Given the description of an element on the screen output the (x, y) to click on. 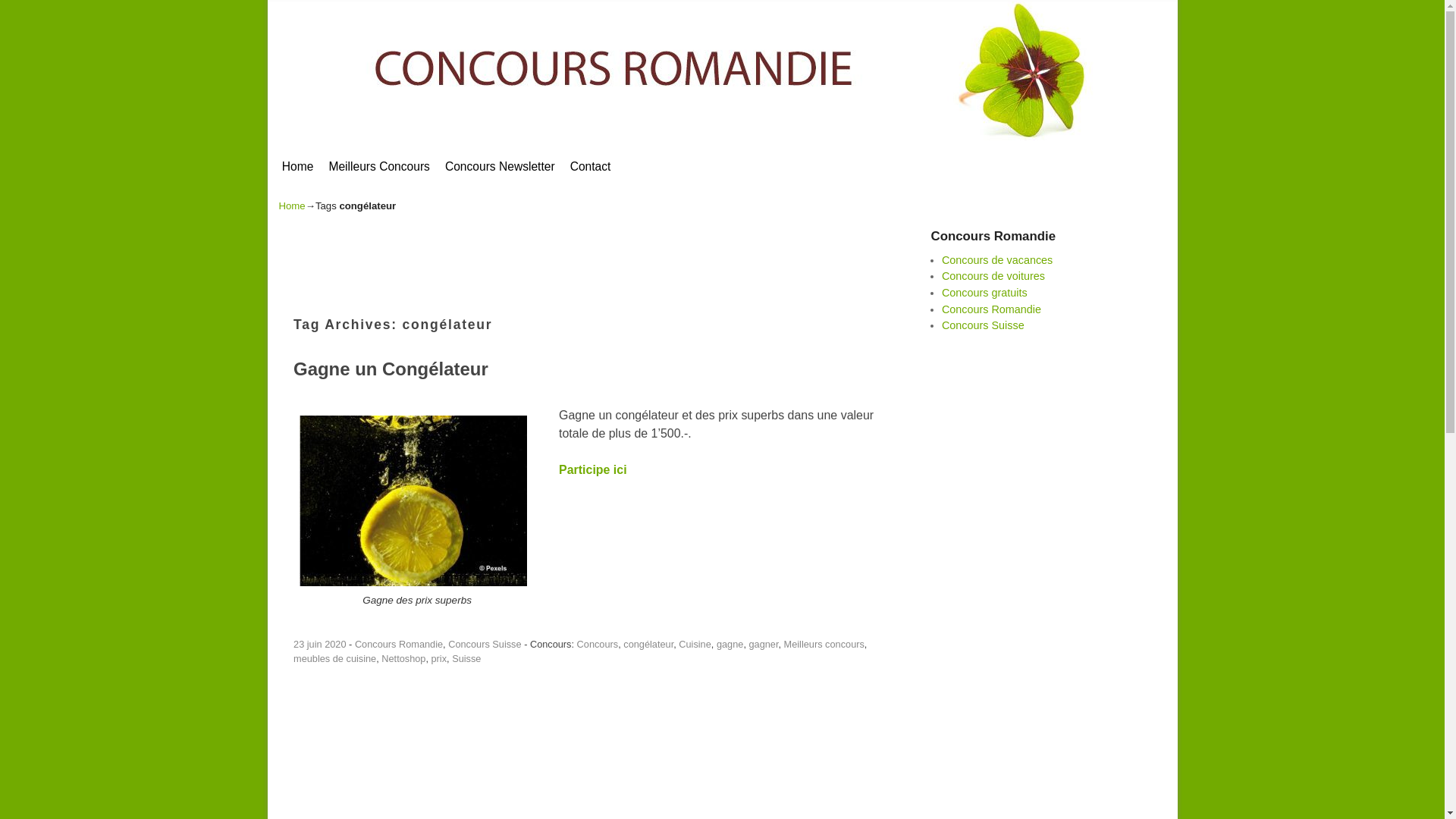
gagne Element type: text (729, 643)
Contact Element type: text (590, 166)
Concours Romandie Element type: text (991, 309)
Concours Romandie Element type: text (398, 643)
Concours Element type: text (597, 643)
Skip to primary content Element type: text (313, 146)
Concours Newsletter Element type: text (499, 166)
gagner Element type: text (763, 643)
prix Element type: text (439, 658)
23 juin 2020 Element type: text (319, 643)
Concours de voitures Element type: text (992, 275)
Nettoshop Element type: text (403, 658)
Home Element type: text (297, 166)
Concours gratuits Element type: text (984, 292)
Advertisement Element type: hover (552, 736)
Home Element type: text (292, 205)
Skip to secondary content Element type: text (318, 146)
meubles de cuisine Element type: text (334, 658)
Suisse Element type: text (465, 658)
Meilleurs Concours Element type: text (378, 166)
Concours de vacances Element type: text (996, 260)
Concours Suisse Element type: text (982, 325)
Cuisine Element type: text (694, 643)
Concours Suisse Element type: text (484, 643)
Meilleurs concours Element type: text (824, 643)
Participe ici Element type: hover (413, 500)
Participe ici Element type: text (592, 469)
Advertisement Element type: hover (552, 260)
